Given the description of an element on the screen output the (x, y) to click on. 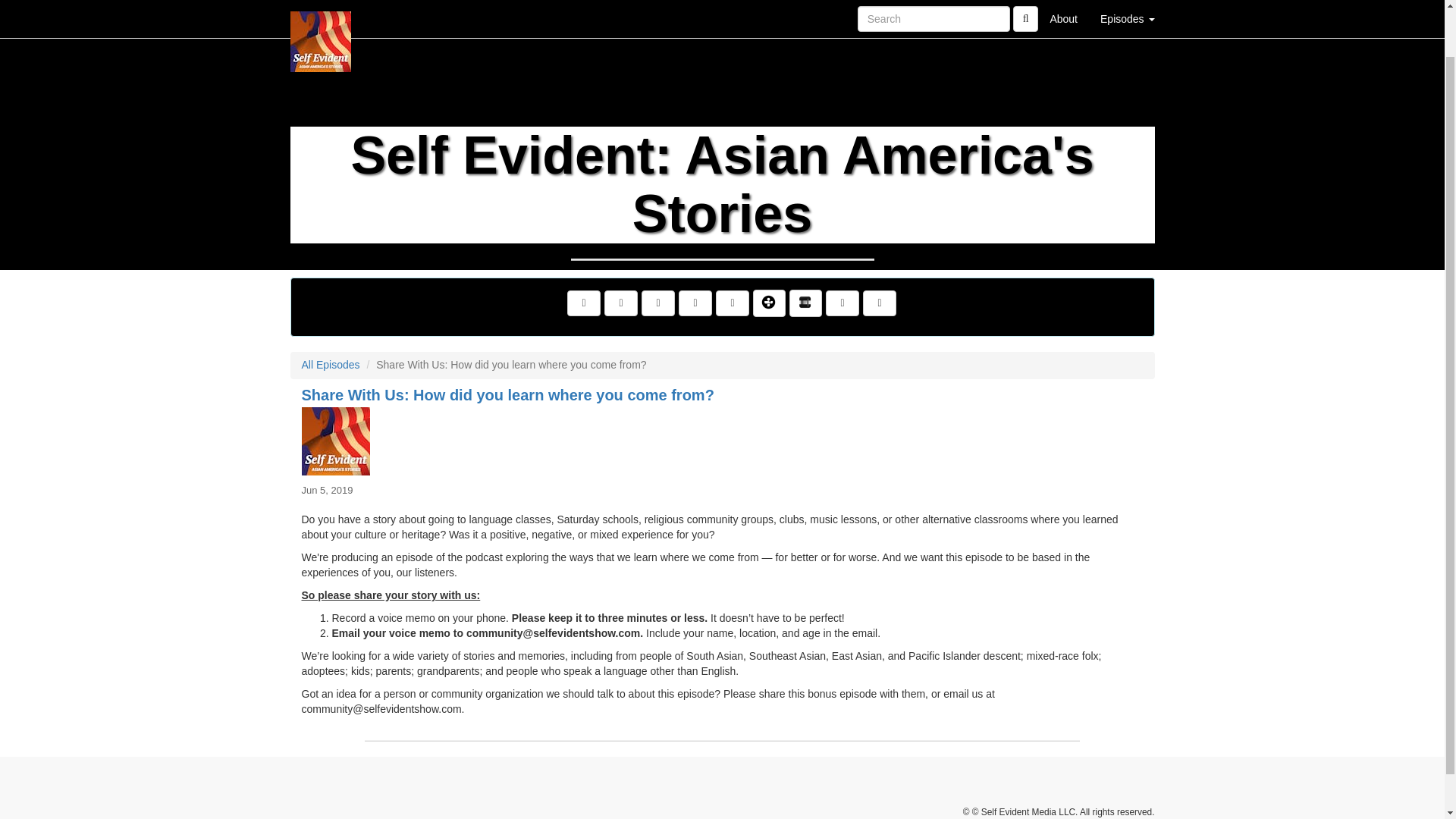
Share With Us: How did you learn where you come from? (721, 441)
